Given the description of an element on the screen output the (x, y) to click on. 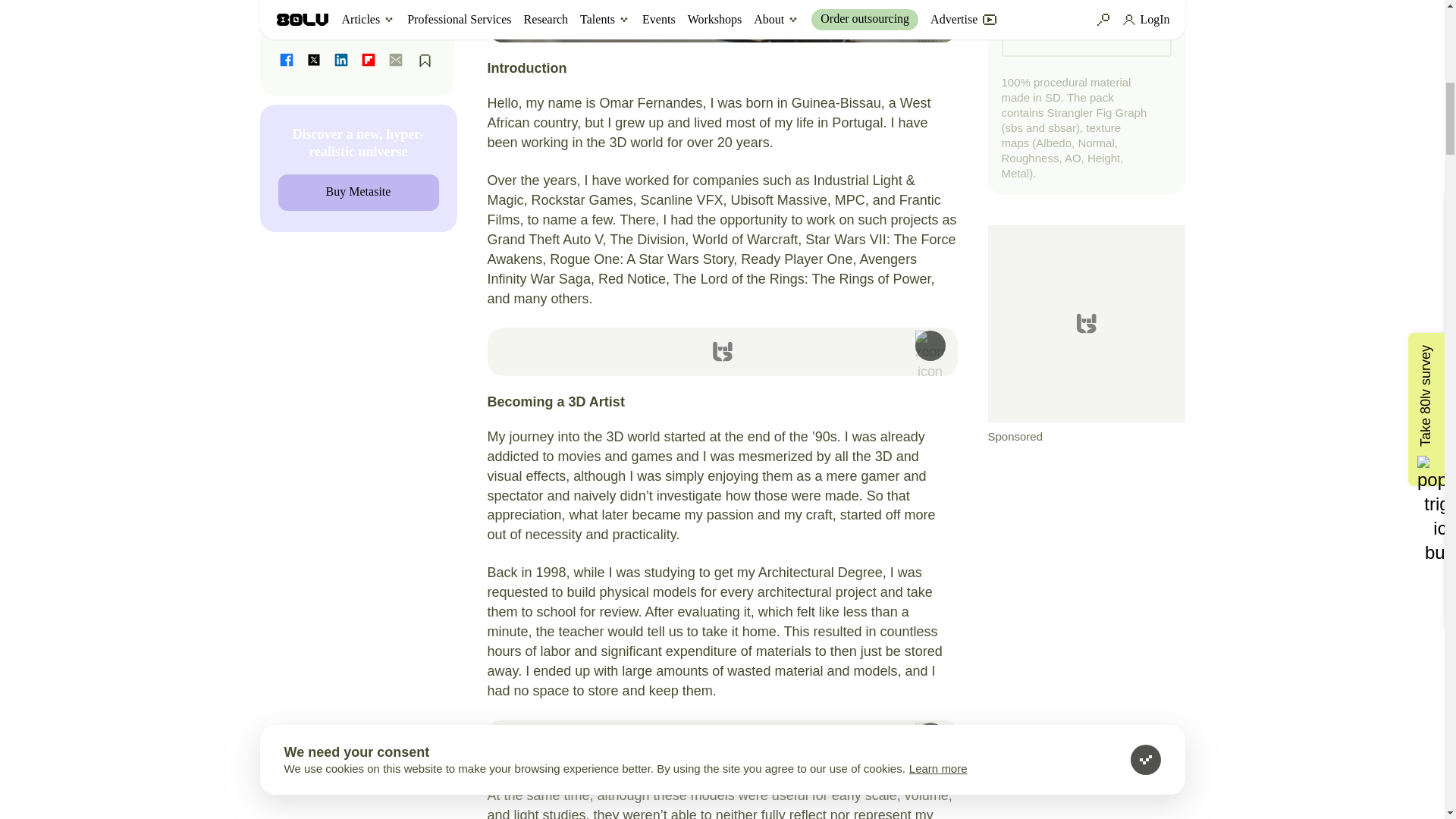
Join conversation (357, 17)
LinkedIn (341, 59)
Twitter (313, 59)
Flipboard (368, 59)
Buy Metasite (358, 192)
Facebook (286, 59)
